Given the description of an element on the screen output the (x, y) to click on. 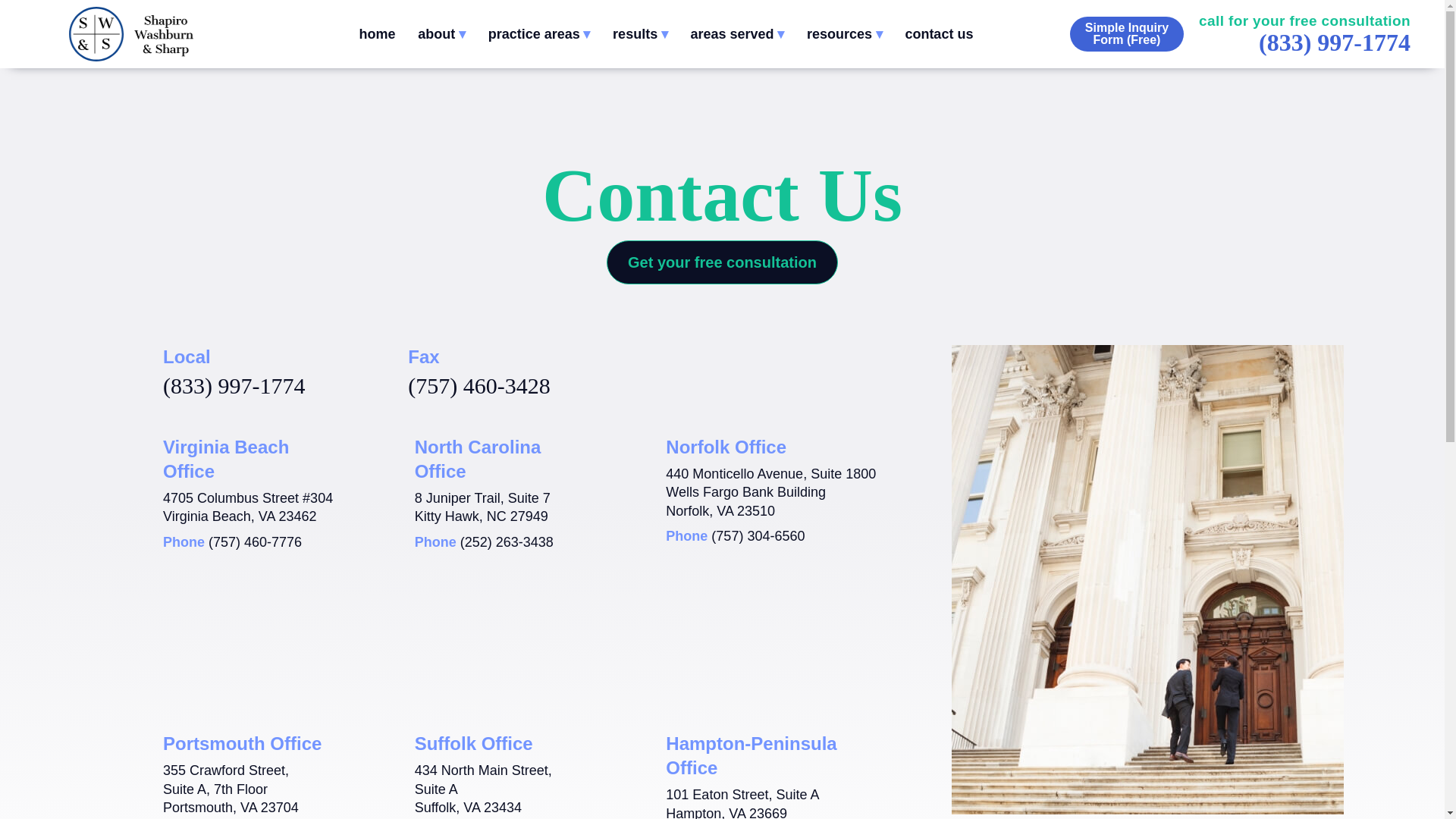
Local (233, 385)
results (640, 34)
Phone (758, 535)
Get your free consultation (722, 262)
areas served (737, 34)
practice areas (539, 34)
home (376, 34)
Local (1334, 42)
about (441, 34)
contact us (938, 34)
Fax (478, 385)
Phone (254, 540)
Phone (506, 540)
resources (844, 34)
